Given the description of an element on the screen output the (x, y) to click on. 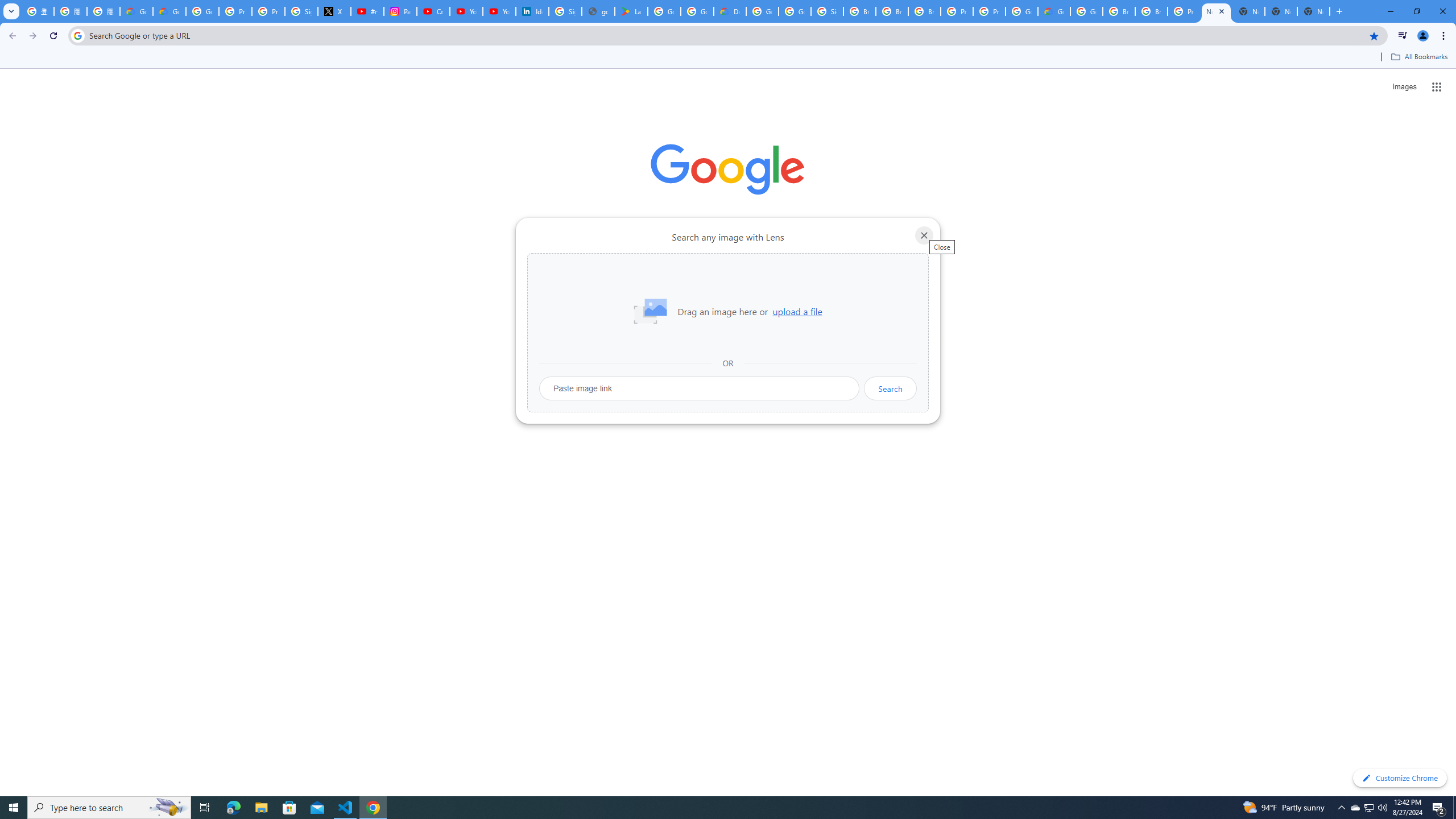
Customize Chrome (1399, 778)
Google Cloud Platform (1021, 11)
Forward (32, 35)
Browse Chrome as a guest - Computer - Google Chrome Help (924, 11)
Back (10, 35)
YouTube Culture & Trends - YouTube Top 10, 2021 (499, 11)
Restore (1416, 11)
Browse Chrome as a guest - Computer - Google Chrome Help (859, 11)
X (334, 11)
Add shortcut (727, 287)
Control your music, videos, and more (1402, 35)
Google Cloud Privacy Notice (169, 11)
